Given the description of an element on the screen output the (x, y) to click on. 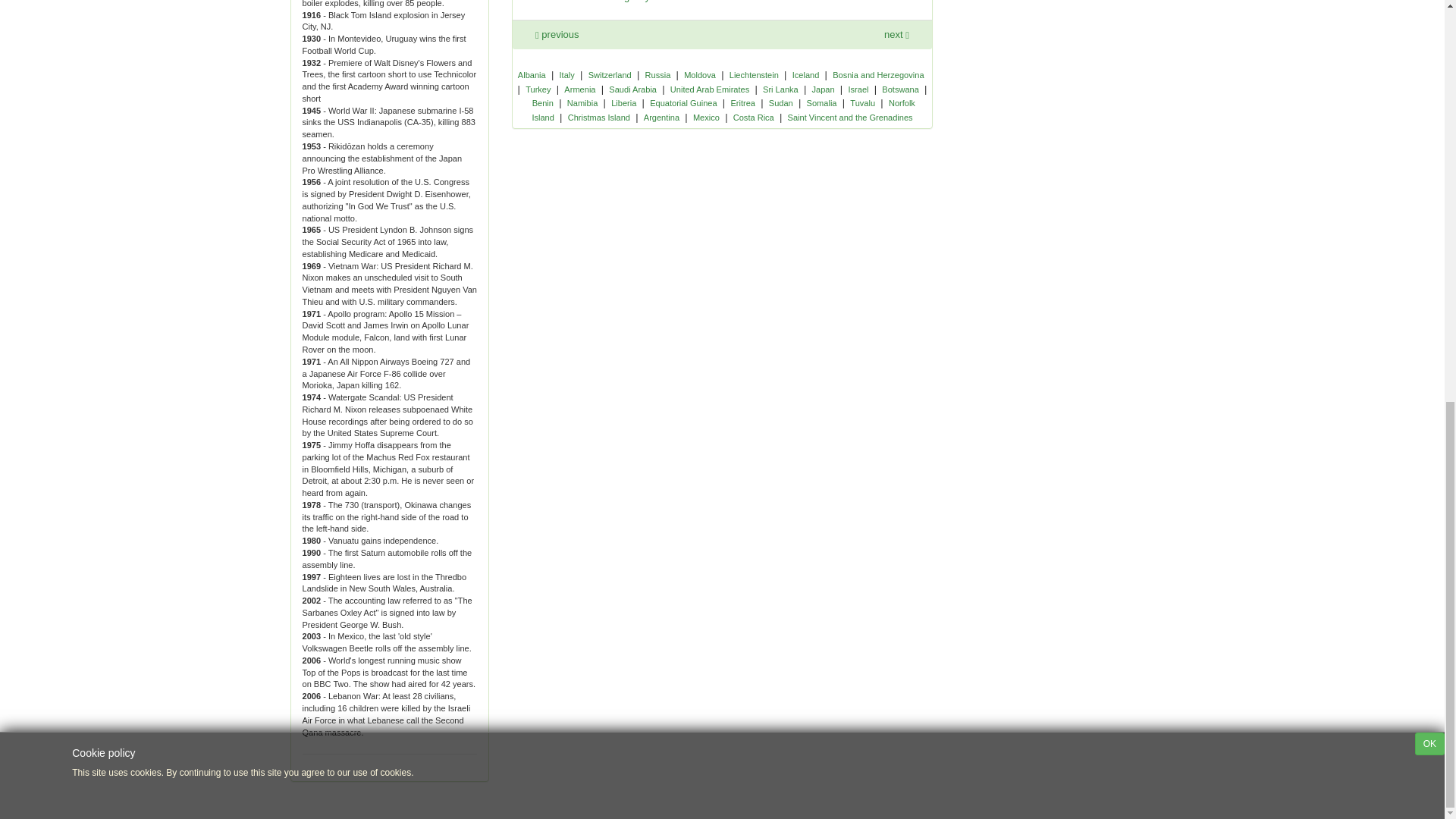
Saudi Arabia (632, 89)
Bosnia and Herzegovina (877, 74)
Turkey (537, 89)
Israel (857, 89)
Moldova (700, 74)
United Arab Emirates (709, 89)
Sri Lanka (779, 89)
Armenia (579, 89)
previous (557, 33)
Switzerland (609, 74)
Iceland (805, 74)
Botswana (900, 89)
Albania (532, 74)
Italy (567, 74)
Liechtenstein (753, 74)
